Given the description of an element on the screen output the (x, y) to click on. 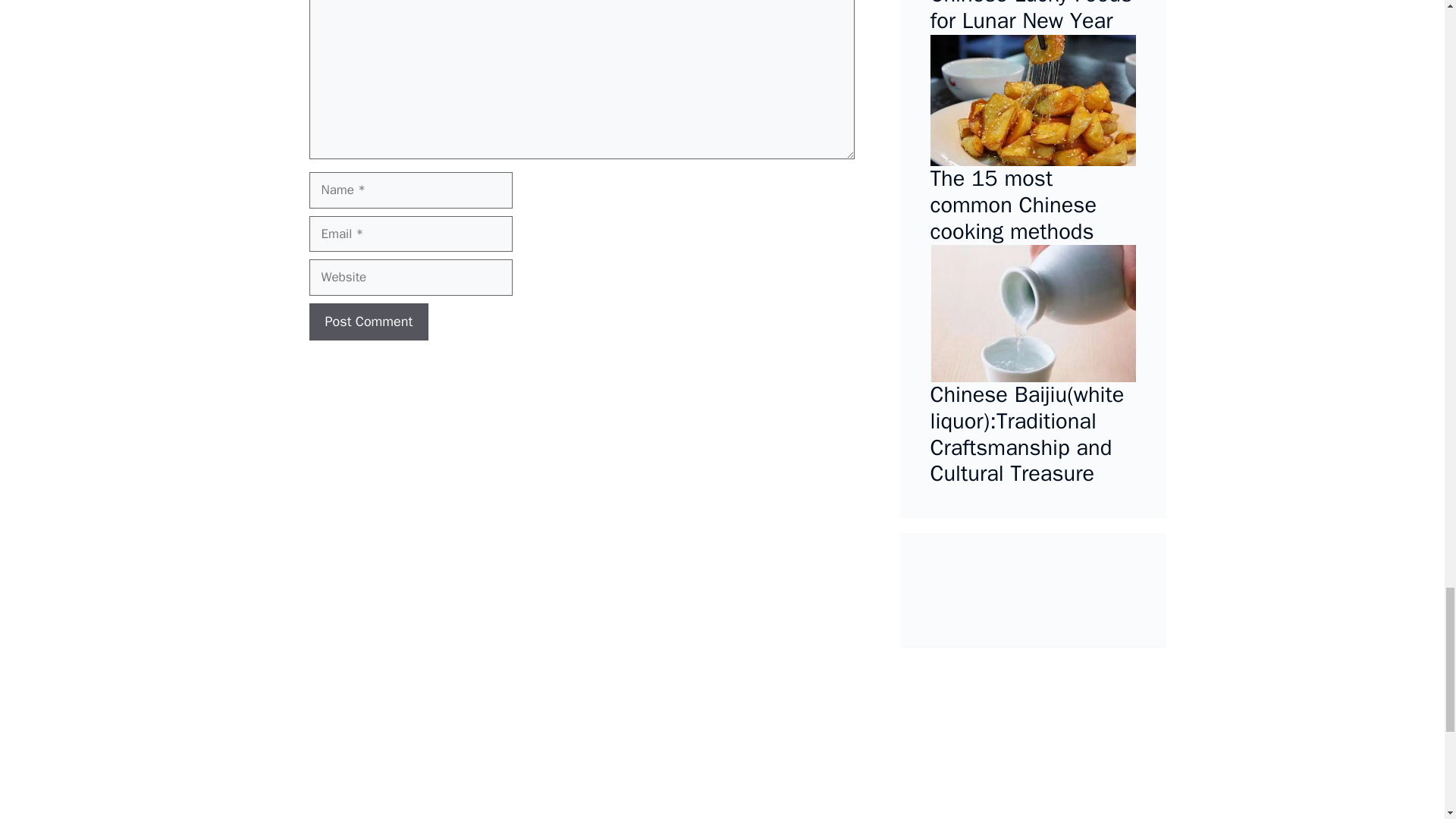
Post Comment (368, 321)
